Given the description of an element on the screen output the (x, y) to click on. 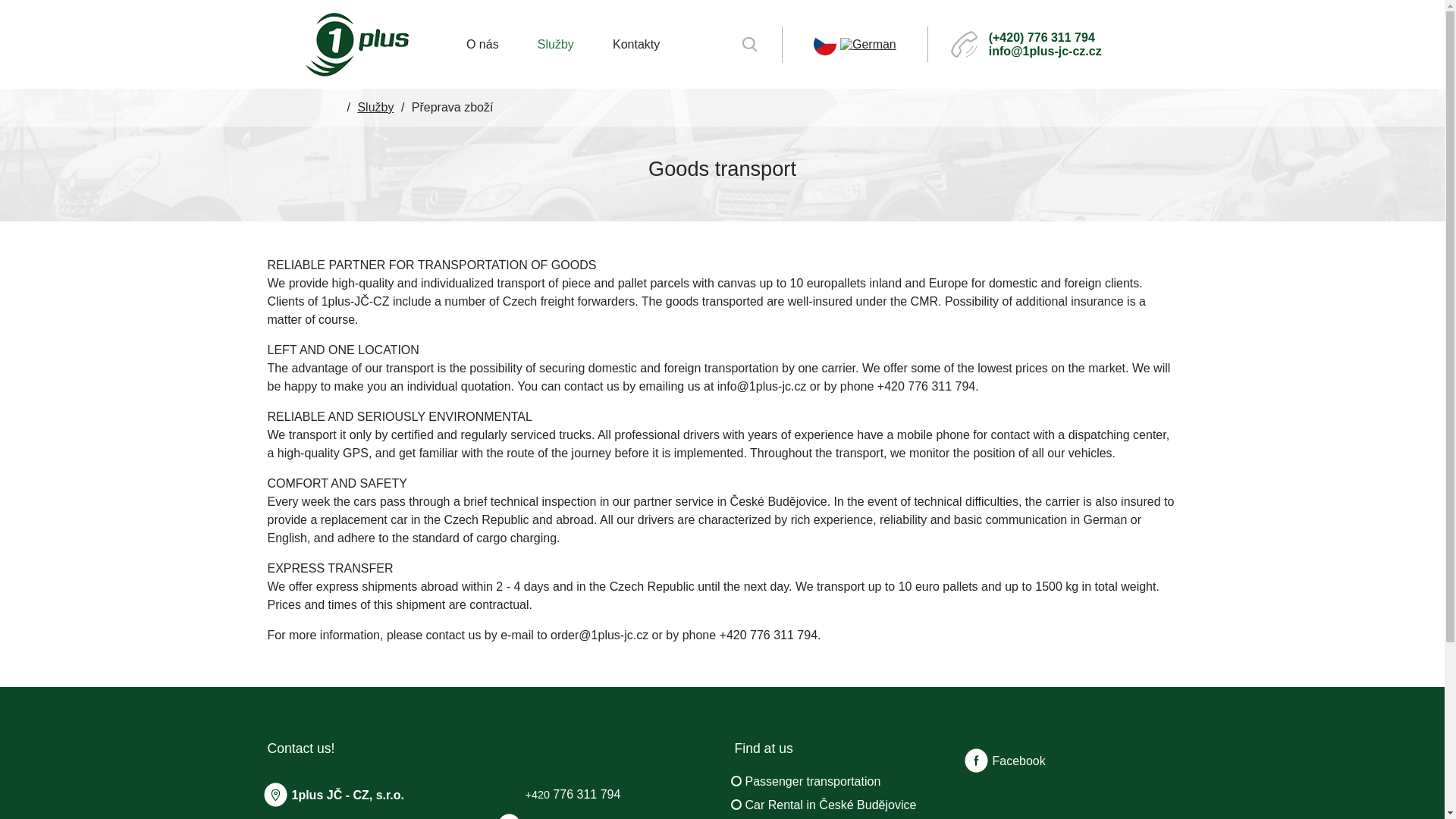
Passenger transportation (812, 780)
Kontakty (635, 44)
German (868, 42)
Czech (823, 42)
Facebook (1006, 760)
